Given the description of an element on the screen output the (x, y) to click on. 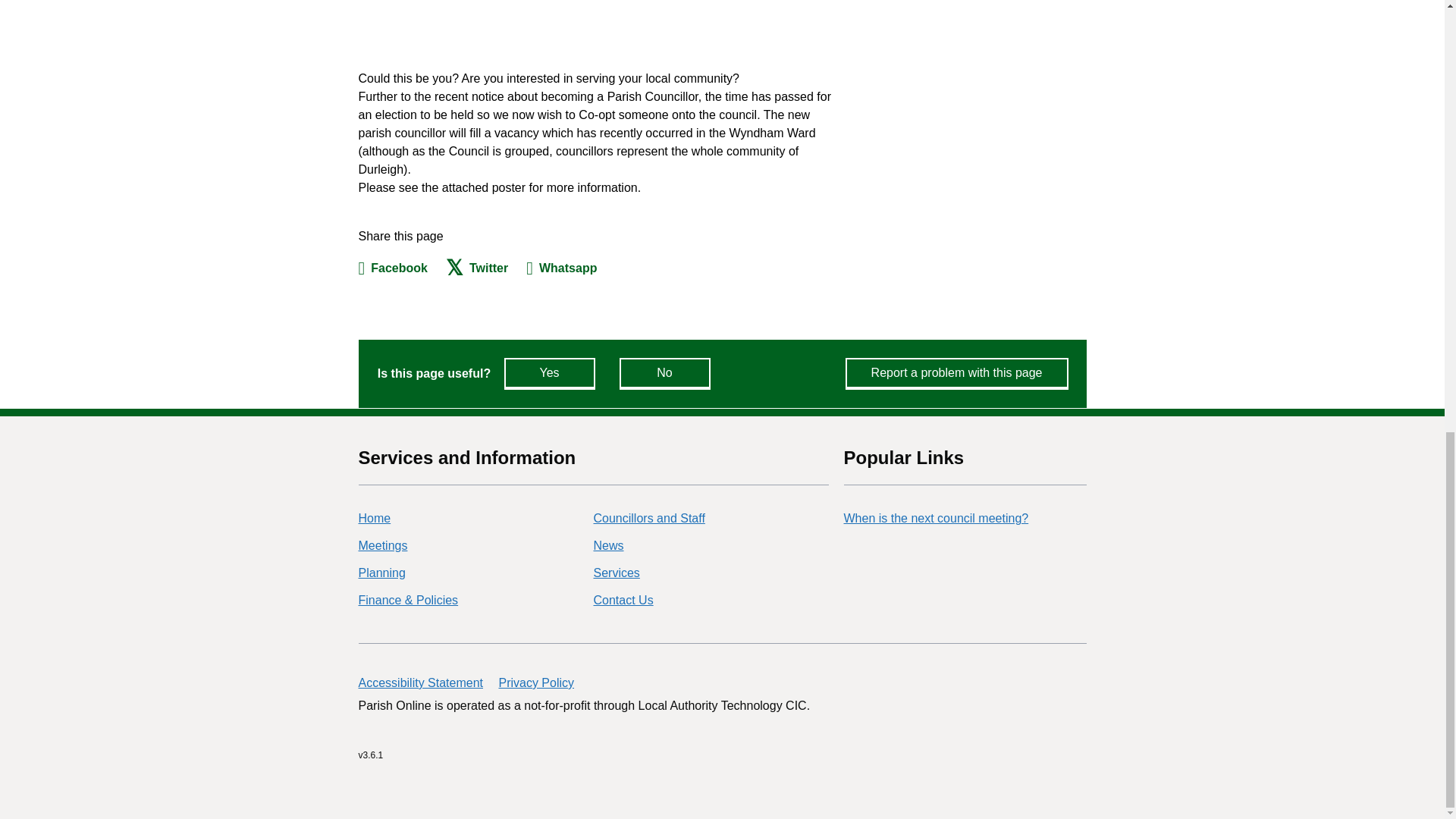
Twitter (476, 268)
Councillors and Staff (648, 517)
Whatsapp (560, 268)
Meetings (382, 545)
Report a problem with this page (956, 373)
Home (374, 517)
Facebook (392, 268)
Yes (548, 373)
News (607, 545)
No (664, 373)
